Given the description of an element on the screen output the (x, y) to click on. 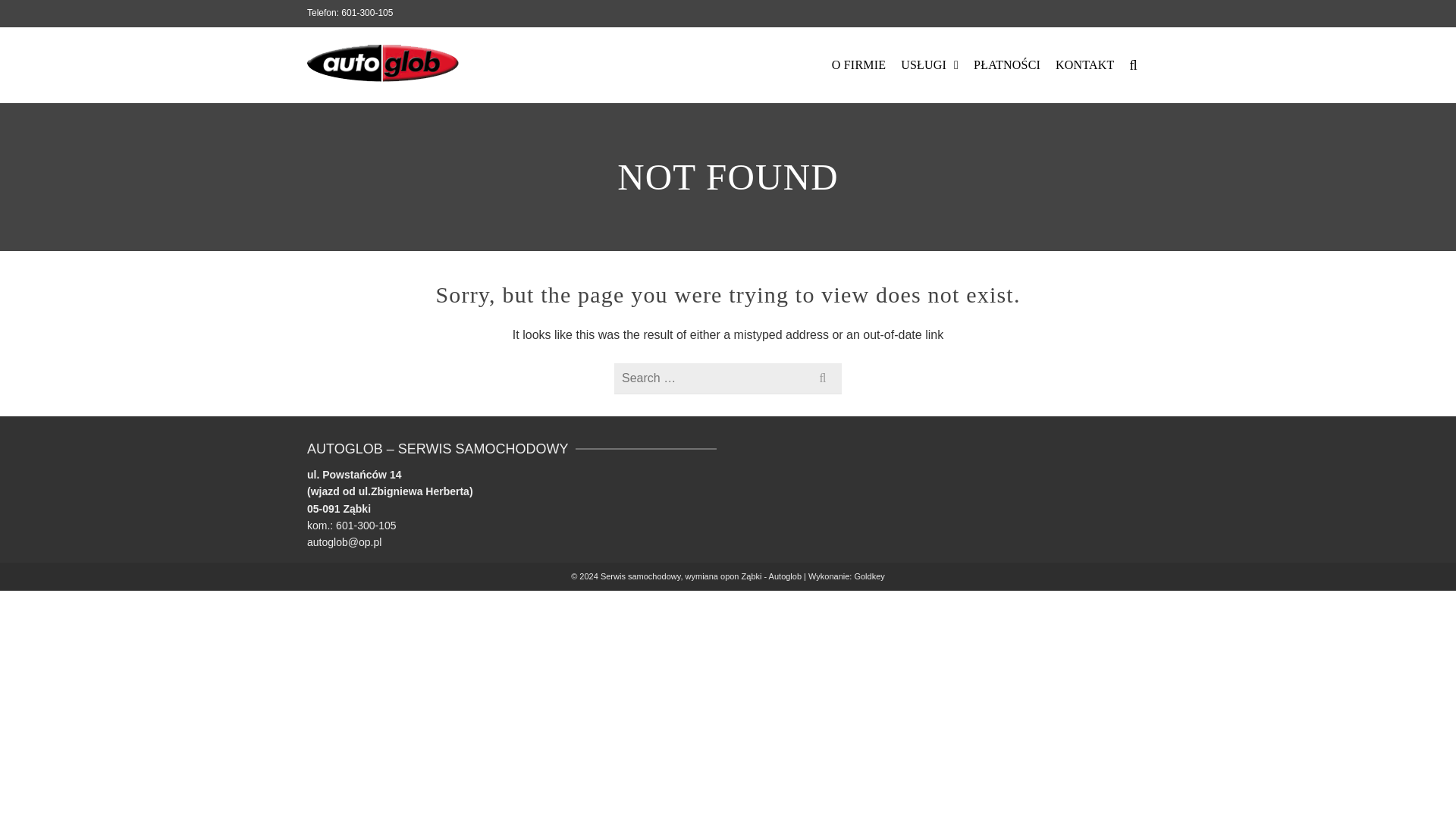
O FIRMIE (858, 64)
Telefon: 601-300-105 (350, 12)
KONTAKT (1084, 64)
